Given the description of an element on the screen output the (x, y) to click on. 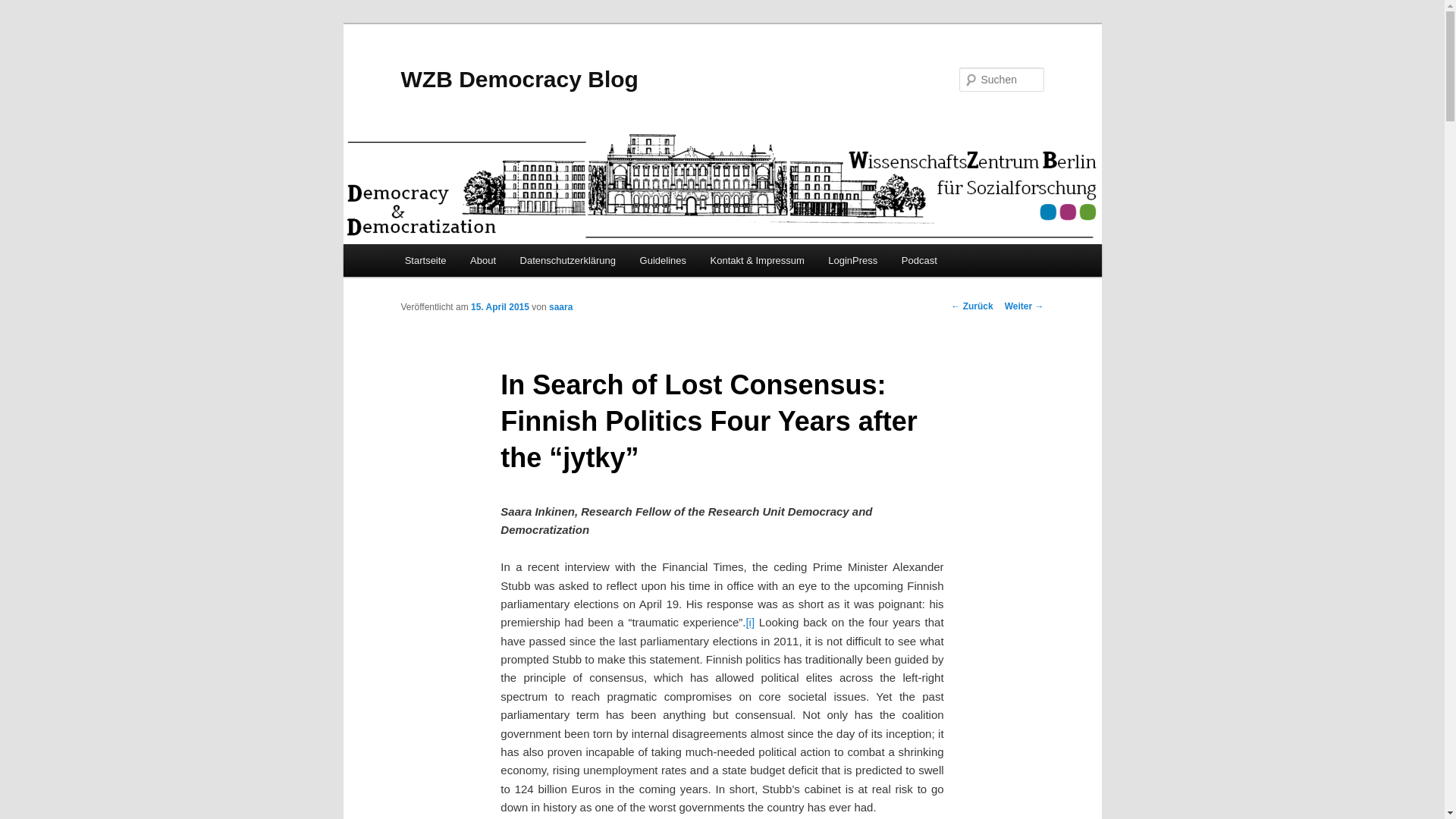
15. April 2015 (499, 307)
14:44 (499, 307)
saara (560, 307)
About (482, 260)
Guidelines (662, 260)
Podcast (919, 260)
WZB Democracy Blog (518, 78)
Artikel von saara (560, 307)
Startseite (425, 260)
